Given the description of an element on the screen output the (x, y) to click on. 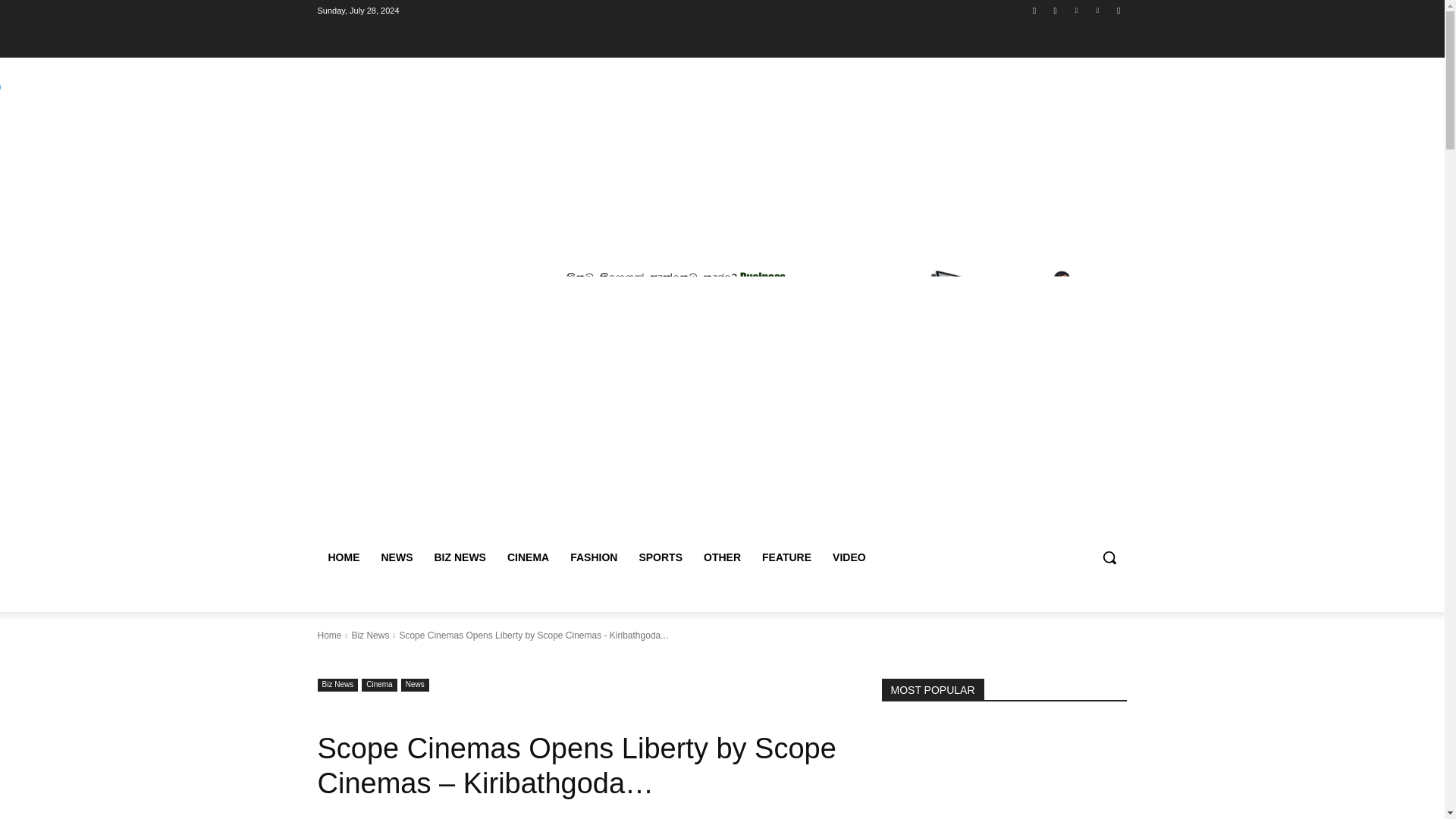
NEWS (396, 556)
Instagram (1055, 9)
Youtube (1117, 9)
FASHION (593, 556)
BIZ NEWS (459, 556)
View all posts in Biz News (369, 634)
Vimeo (1097, 9)
HOME (343, 556)
SPORTS (660, 556)
Twitter (1075, 9)
CINEMA (527, 556)
Facebook (1034, 9)
